Given the description of an element on the screen output the (x, y) to click on. 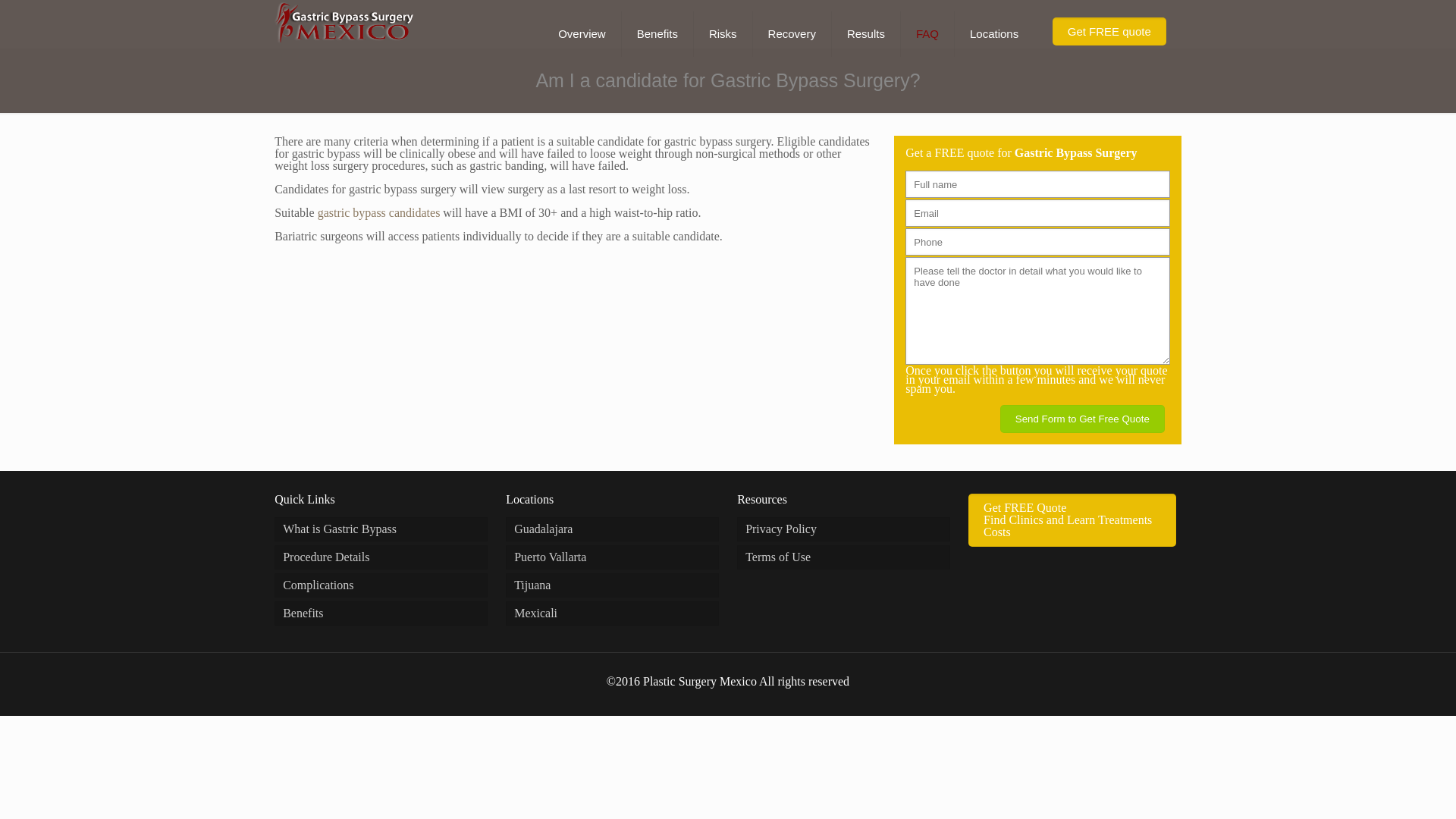
Results (866, 33)
Get FREE quote (1109, 31)
Send Form to Get Free Quote (1072, 520)
Benefits (1082, 418)
Puerto Vallarta (381, 613)
Guadalajara (612, 557)
What is Gastric Bypass (612, 528)
gastric bypass candidates (381, 528)
Benefits (379, 212)
Candidates for gastric bypass (657, 33)
Terms of Use (379, 212)
Complications (843, 557)
Locations (381, 585)
Overview (994, 33)
